Given the description of an element on the screen output the (x, y) to click on. 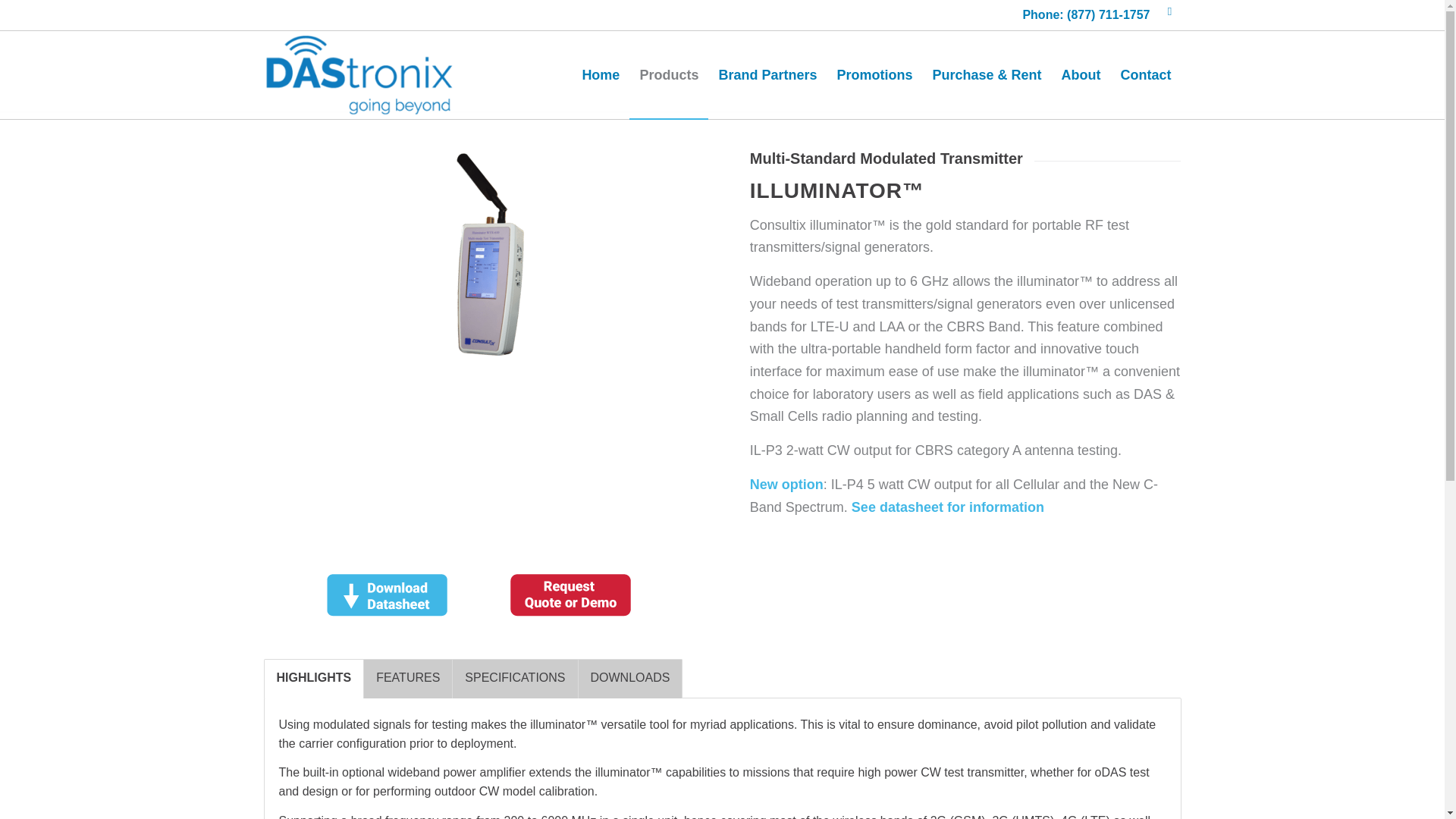
button-quote (570, 593)
Brand Partners (767, 74)
LinkedIn (1169, 11)
Products (667, 74)
button-datasheet (387, 593)
